Given the description of an element on the screen output the (x, y) to click on. 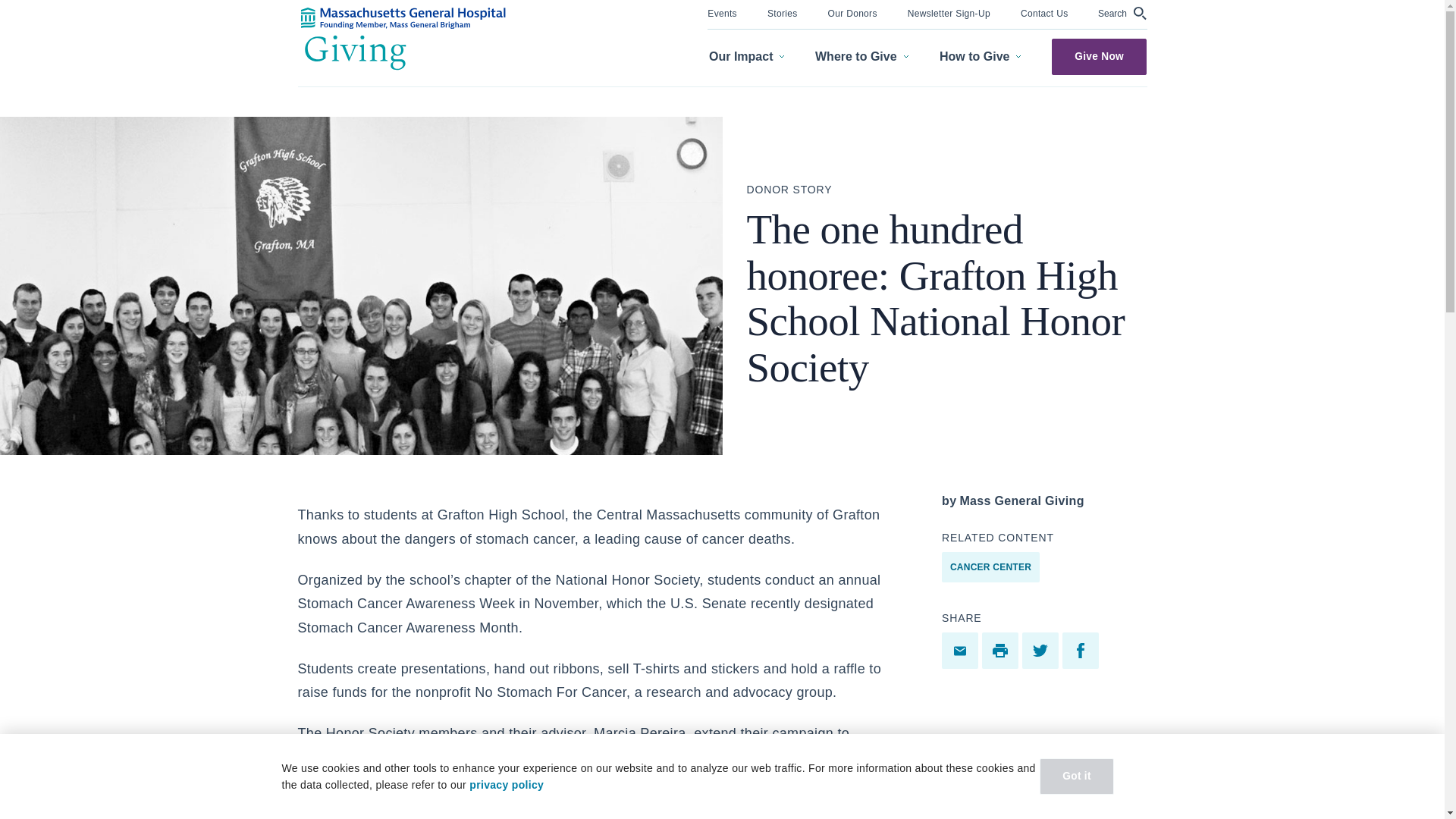
Our Donors (852, 11)
Events (721, 11)
Give Now (1099, 56)
Where to Give (861, 56)
CANCER CENTER (990, 567)
Newsletter Sign-Up (948, 11)
Stories (782, 11)
Contact Us (1044, 11)
How to Give (980, 56)
Our Impact (746, 56)
Search (1122, 12)
